Given the description of an element on the screen output the (x, y) to click on. 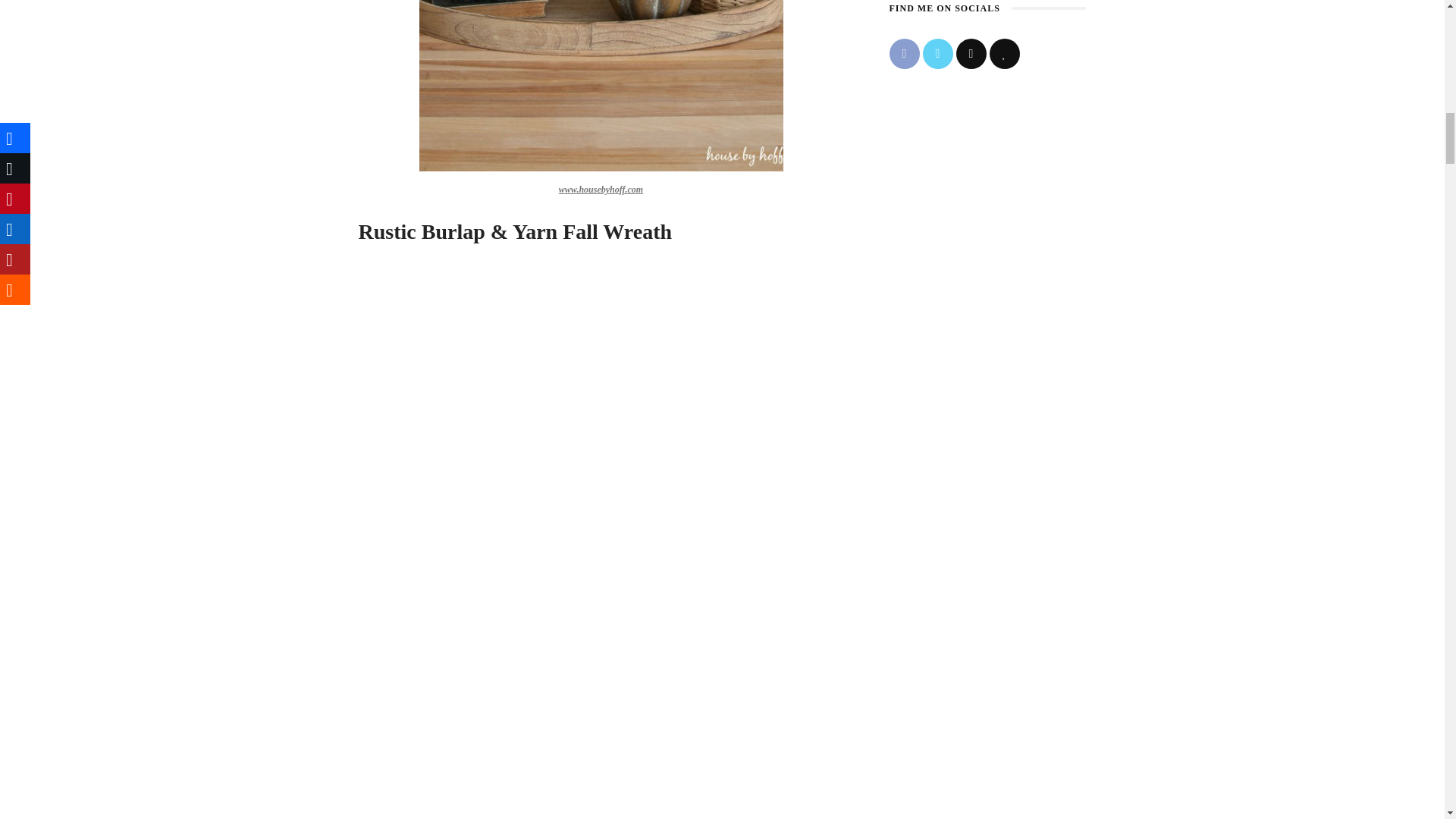
www.housebyhoff.com (601, 189)
www.housebyhoff.com (601, 85)
